Given the description of an element on the screen output the (x, y) to click on. 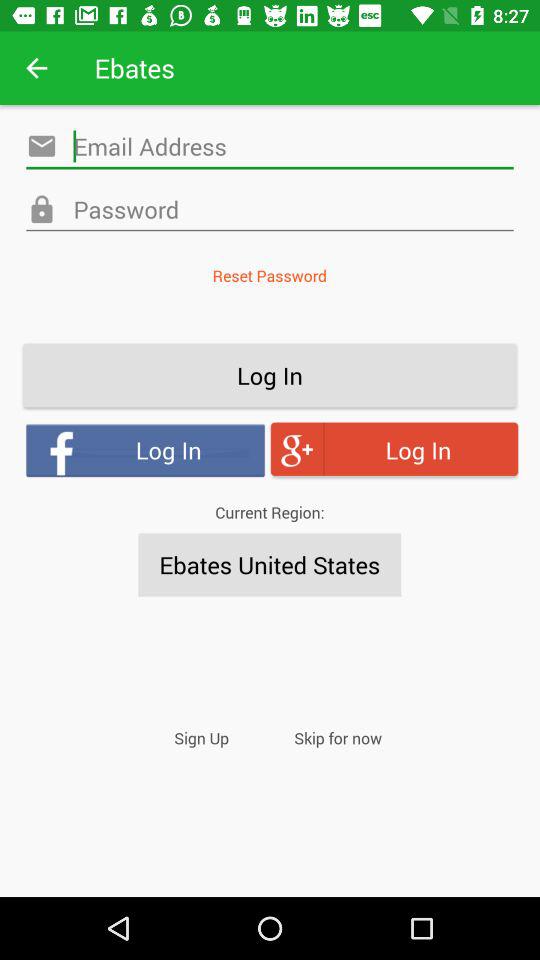
launch icon above the log in (269, 275)
